Given the description of an element on the screen output the (x, y) to click on. 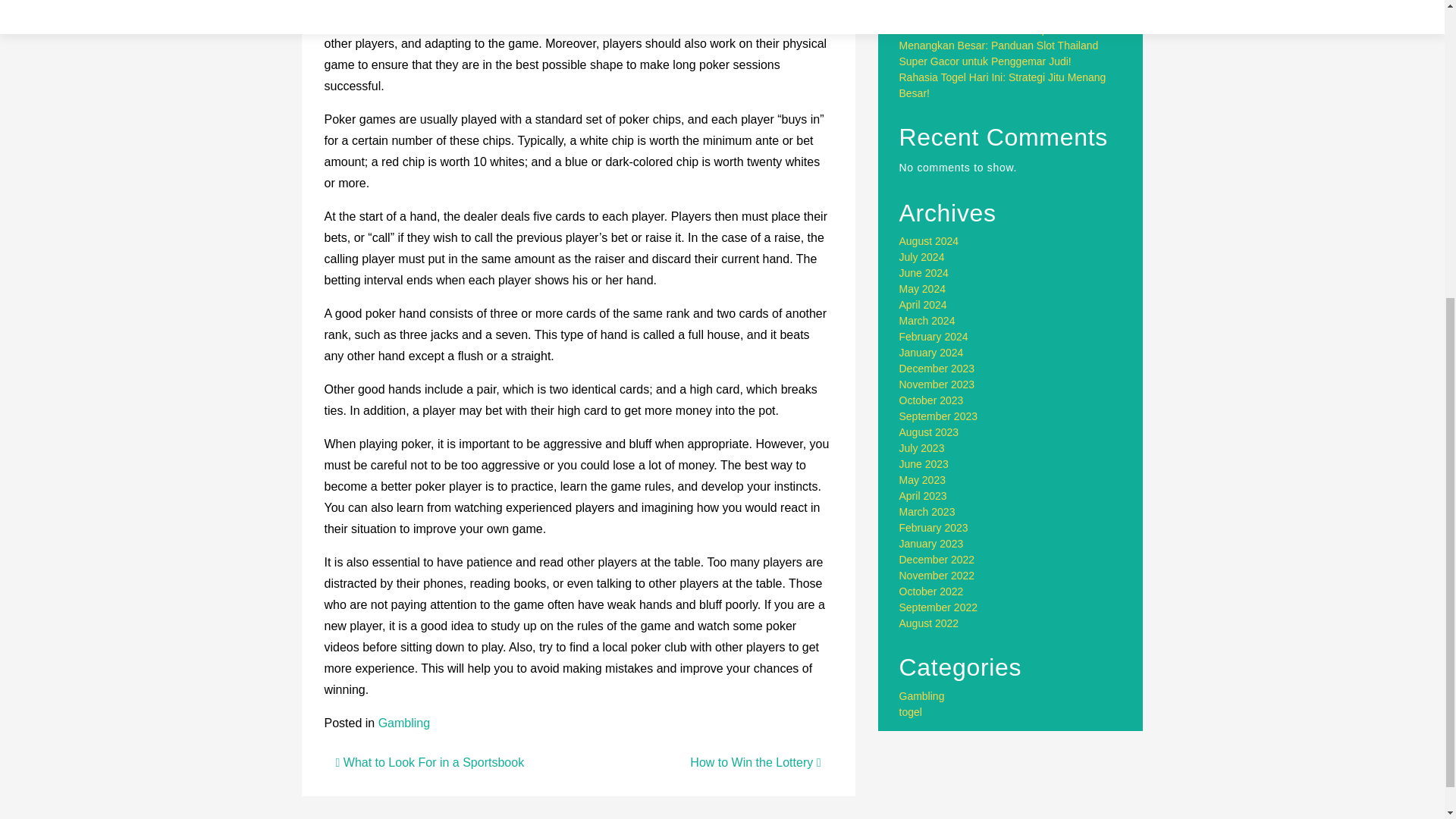
Gambling (921, 695)
June 2024 (924, 272)
April 2024 (923, 304)
November 2022 (937, 575)
November 2023 (937, 384)
How to Win the Lottery  (755, 762)
December 2023 (937, 368)
August 2023 (929, 431)
May 2024 (921, 288)
January 2023 (931, 543)
